Given the description of an element on the screen output the (x, y) to click on. 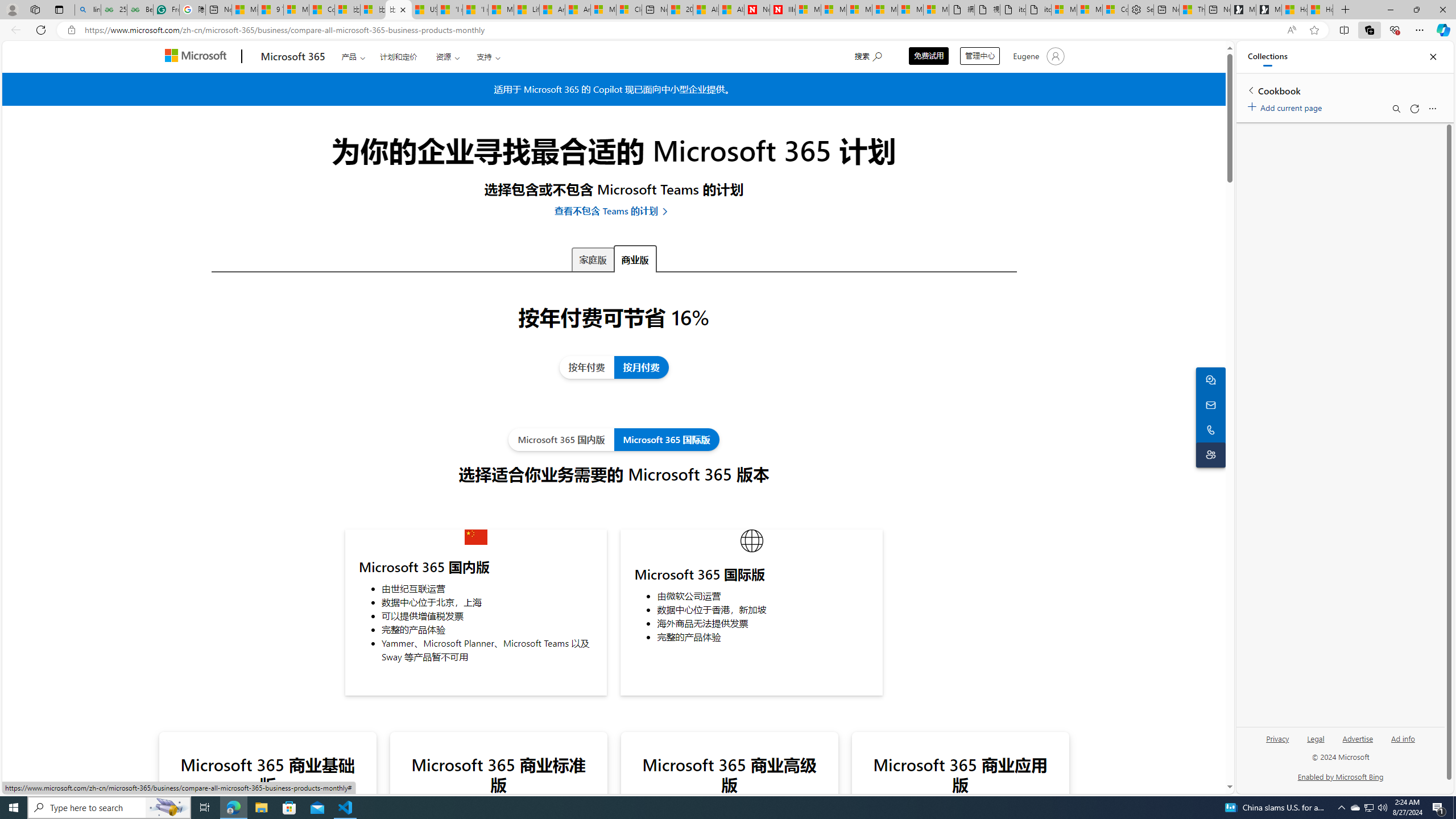
Free AI Writing Assistance for Students | Grammarly (166, 9)
